Given the description of an element on the screen output the (x, y) to click on. 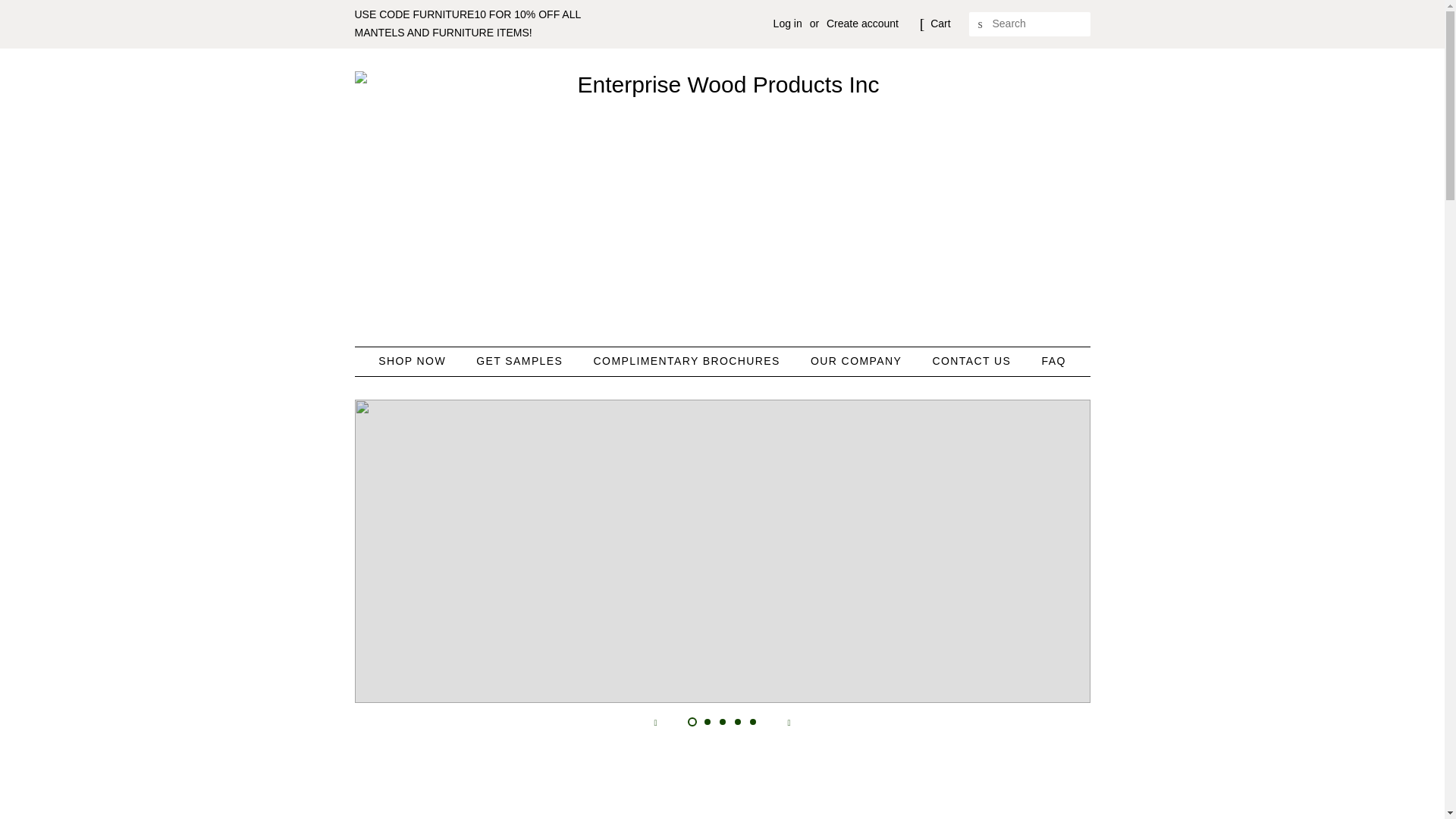
COMPLIMENTARY BROCHURES (688, 361)
2 (706, 721)
Log in (787, 23)
SEARCH (980, 24)
OUR COMPANY (858, 361)
1 (691, 721)
GET SAMPLES (521, 361)
5 (752, 721)
Cart (940, 24)
FAQ (1047, 361)
